Given the description of an element on the screen output the (x, y) to click on. 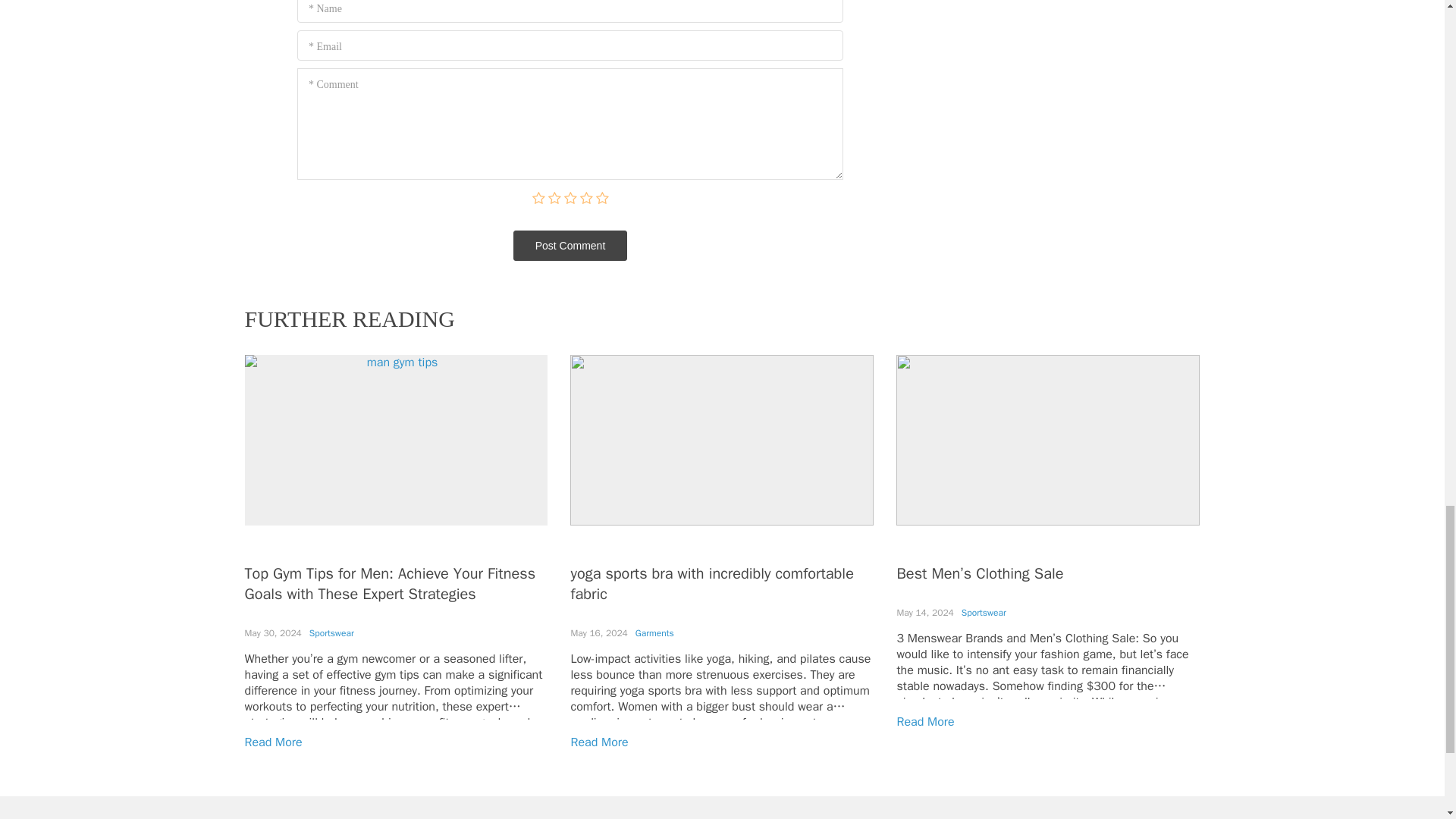
yoga sports bra with incredibly comfortable fabric (711, 583)
Read More (924, 721)
Read More (272, 742)
Garments (654, 633)
Read More (598, 742)
Sportswear (330, 633)
Sportswear (983, 612)
